Given the description of an element on the screen output the (x, y) to click on. 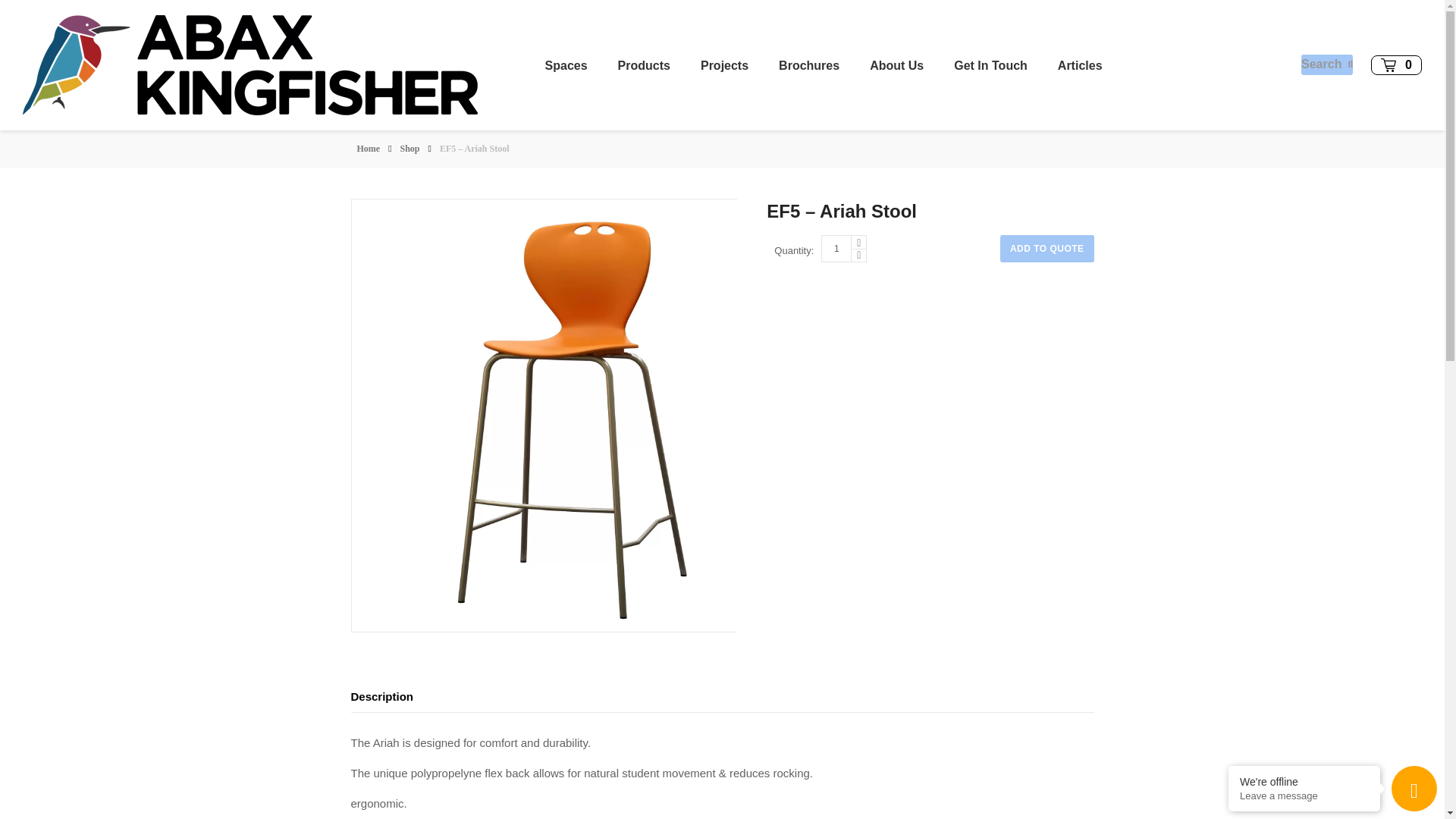
Leave a message (1304, 795)
Products (643, 65)
We're offline (1304, 781)
1 (836, 248)
Spaces (565, 65)
